Given the description of an element on the screen output the (x, y) to click on. 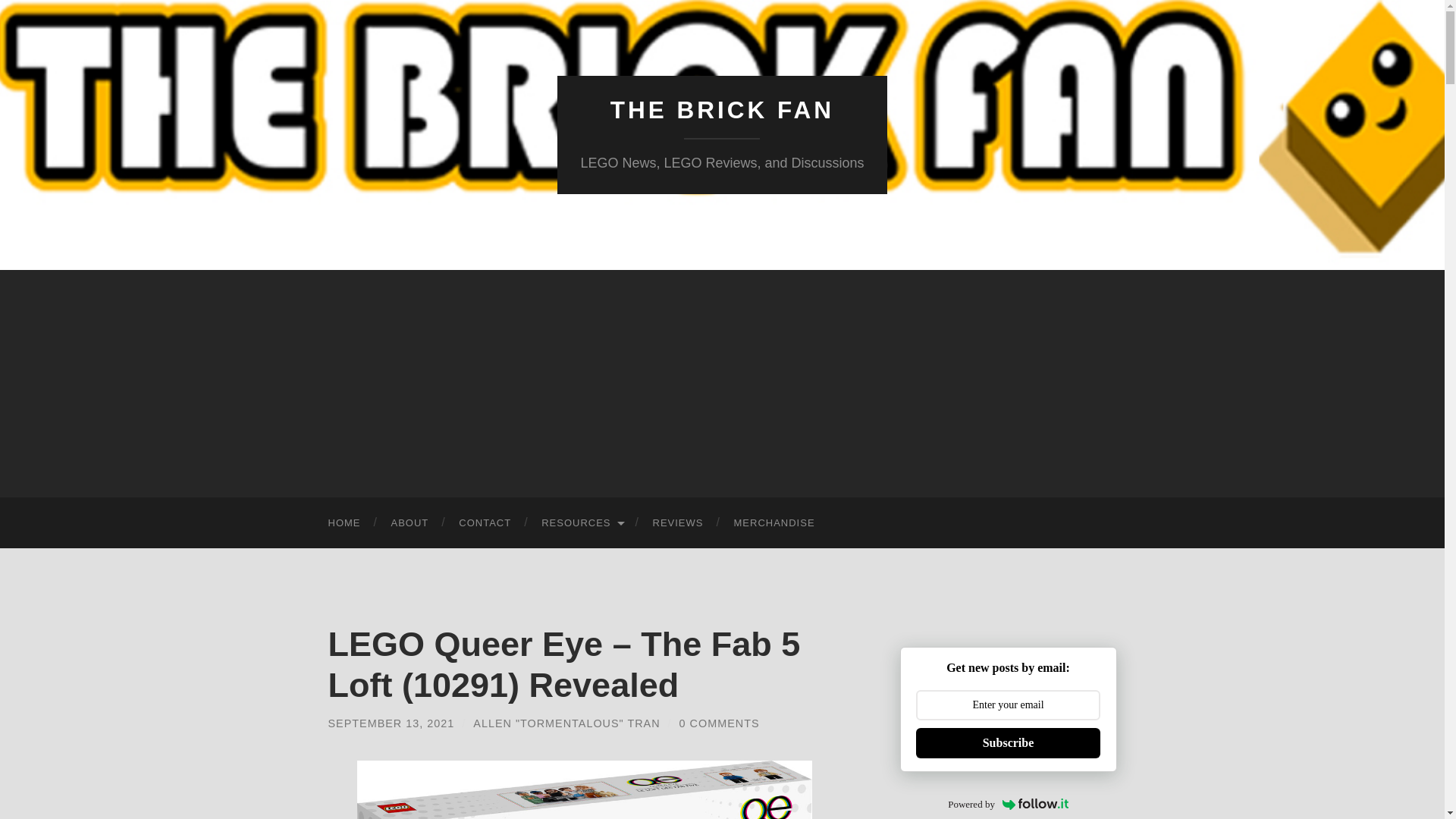
REVIEWS (678, 522)
RESOURCES (581, 522)
SEPTEMBER 13, 2021 (390, 723)
CONTACT (484, 522)
Posts by Allen "Tormentalous" Tran (566, 723)
Subscribe (1007, 743)
MERCHANDISE (774, 522)
ABOUT (409, 522)
THE BRICK FAN (722, 109)
0 COMMENTS (719, 723)
ALLEN "TORMENTALOUS" TRAN (566, 723)
HOME (344, 522)
